Given the description of an element on the screen output the (x, y) to click on. 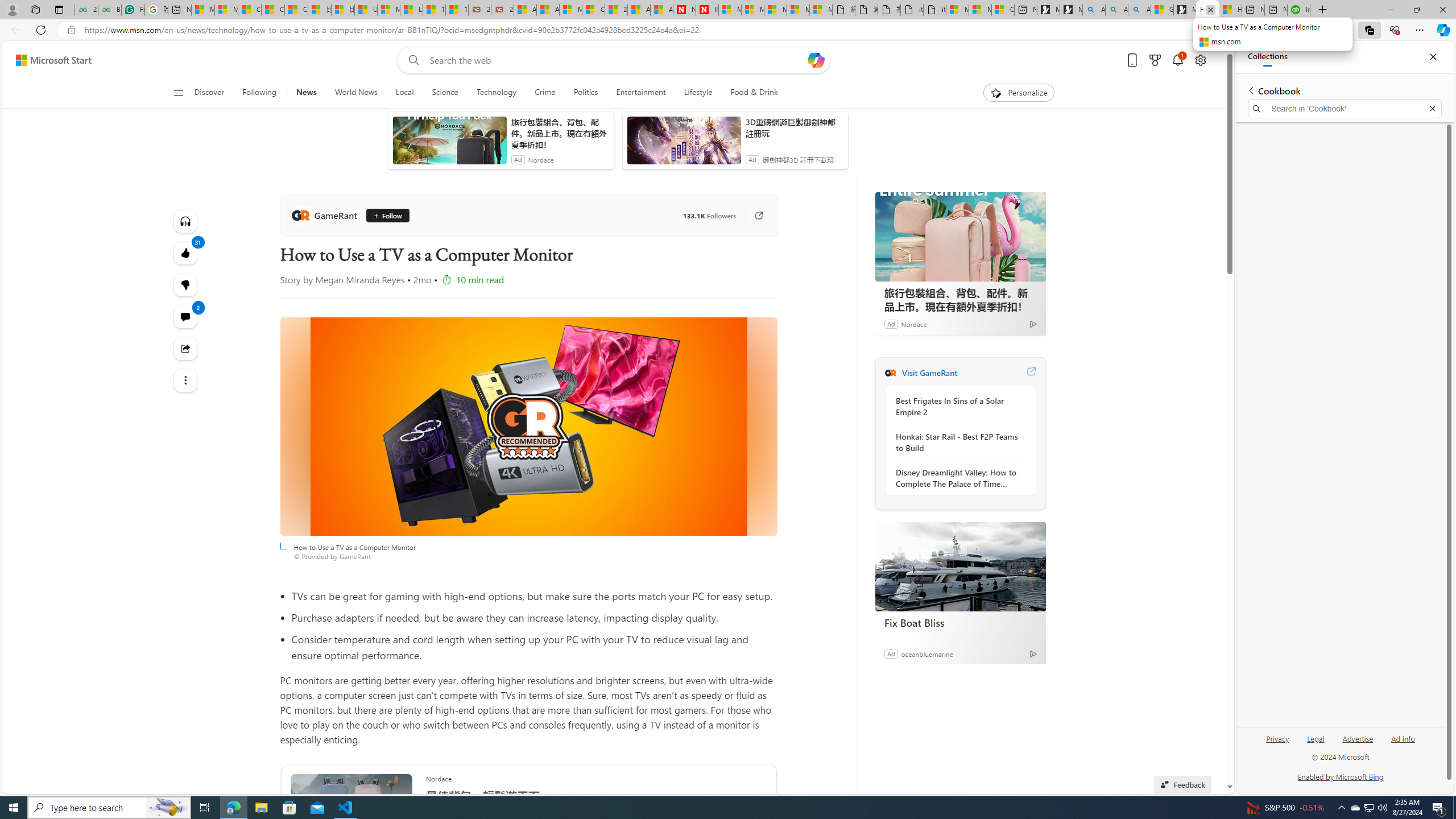
Alabama high school quarterback dies - Search (1093, 9)
Food & Drink (748, 92)
Go to publisher's site (752, 215)
oceanbluemarine (927, 653)
